Given the description of an element on the screen output the (x, y) to click on. 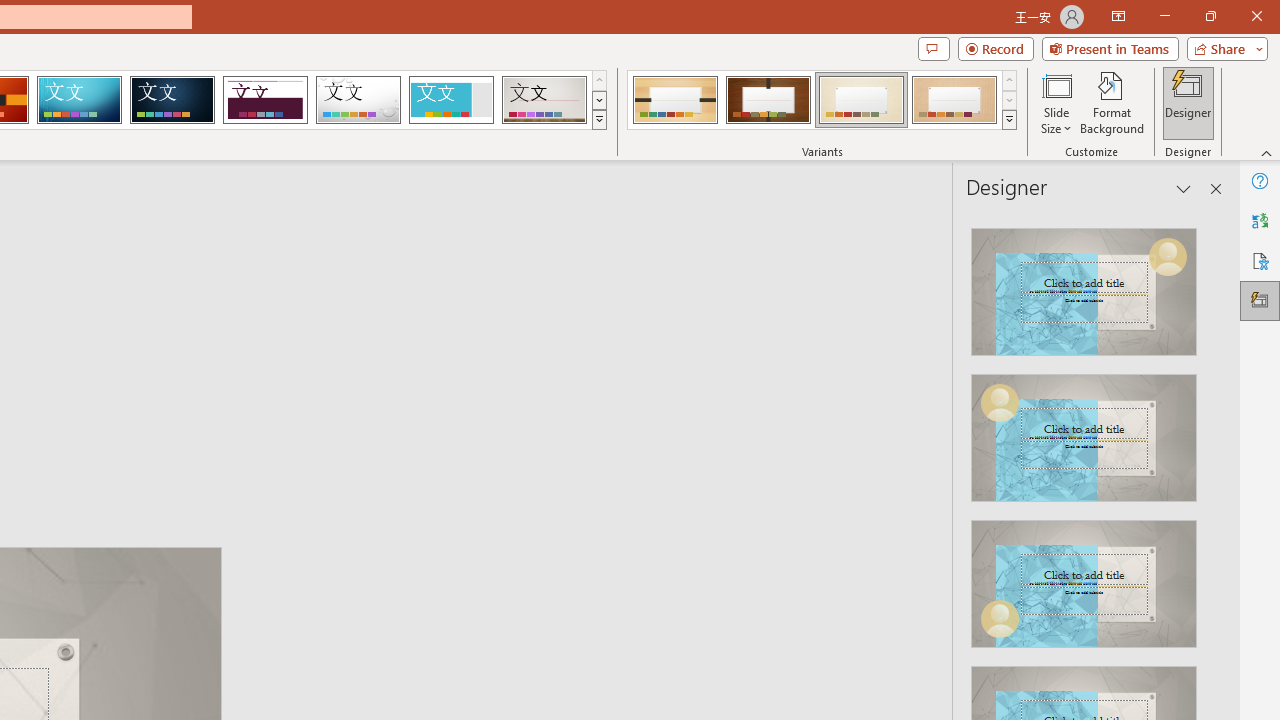
Organic Variant 1 (674, 100)
Droplet (358, 100)
Variants (1009, 120)
Recommended Design: Design Idea (1083, 286)
Organic Variant 2 (768, 100)
AutomationID: ThemeVariantsGallery (822, 99)
Frame (450, 100)
